Given the description of an element on the screen output the (x, y) to click on. 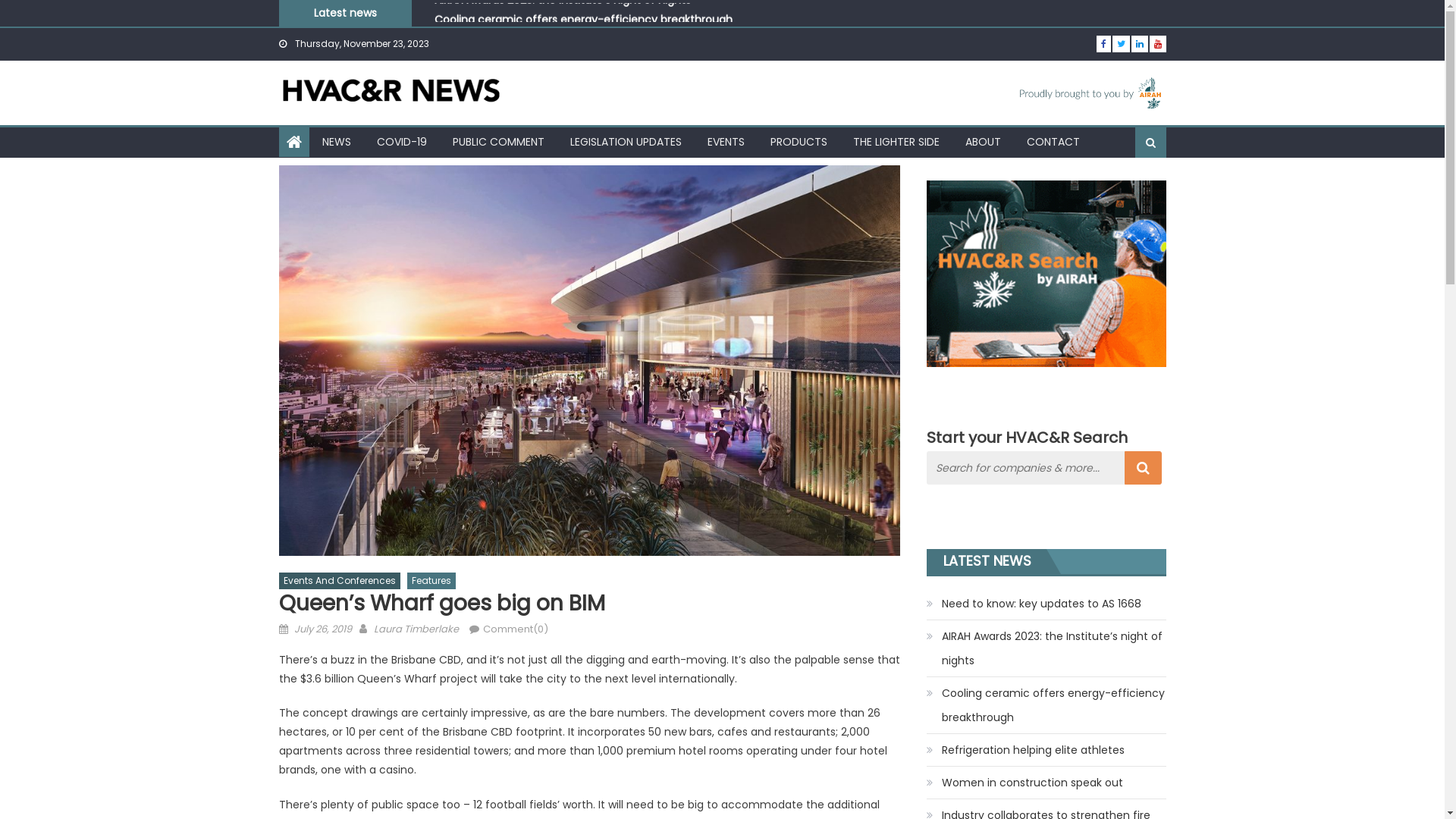
Features Element type: text (430, 580)
Refrigeration helping elite athletes Element type: text (1025, 749)
EVENTS Element type: text (726, 141)
PRODUCTS Element type: text (797, 141)
CONTACT Element type: text (1052, 141)
Women in construction speak out Element type: text (1024, 782)
THE LIGHTER SIDE Element type: text (895, 141)
ABOUT Element type: text (982, 141)
NEWS Element type: text (336, 141)
Laura Timberlake Element type: text (415, 628)
Search Element type: text (1128, 190)
LEGISLATION UPDATES Element type: text (625, 141)
July 26, 2019 Element type: text (322, 628)
Comment(0) Element type: text (514, 628)
COVID-19 Element type: text (401, 141)
Need to know: key updates to AS 1668 Element type: text (1033, 603)
Events And Conferences Element type: text (339, 580)
Cooling ceramic offers energy-efficiency breakthrough Element type: text (1046, 704)
PUBLIC COMMENT Element type: text (498, 141)
